Given the description of an element on the screen output the (x, y) to click on. 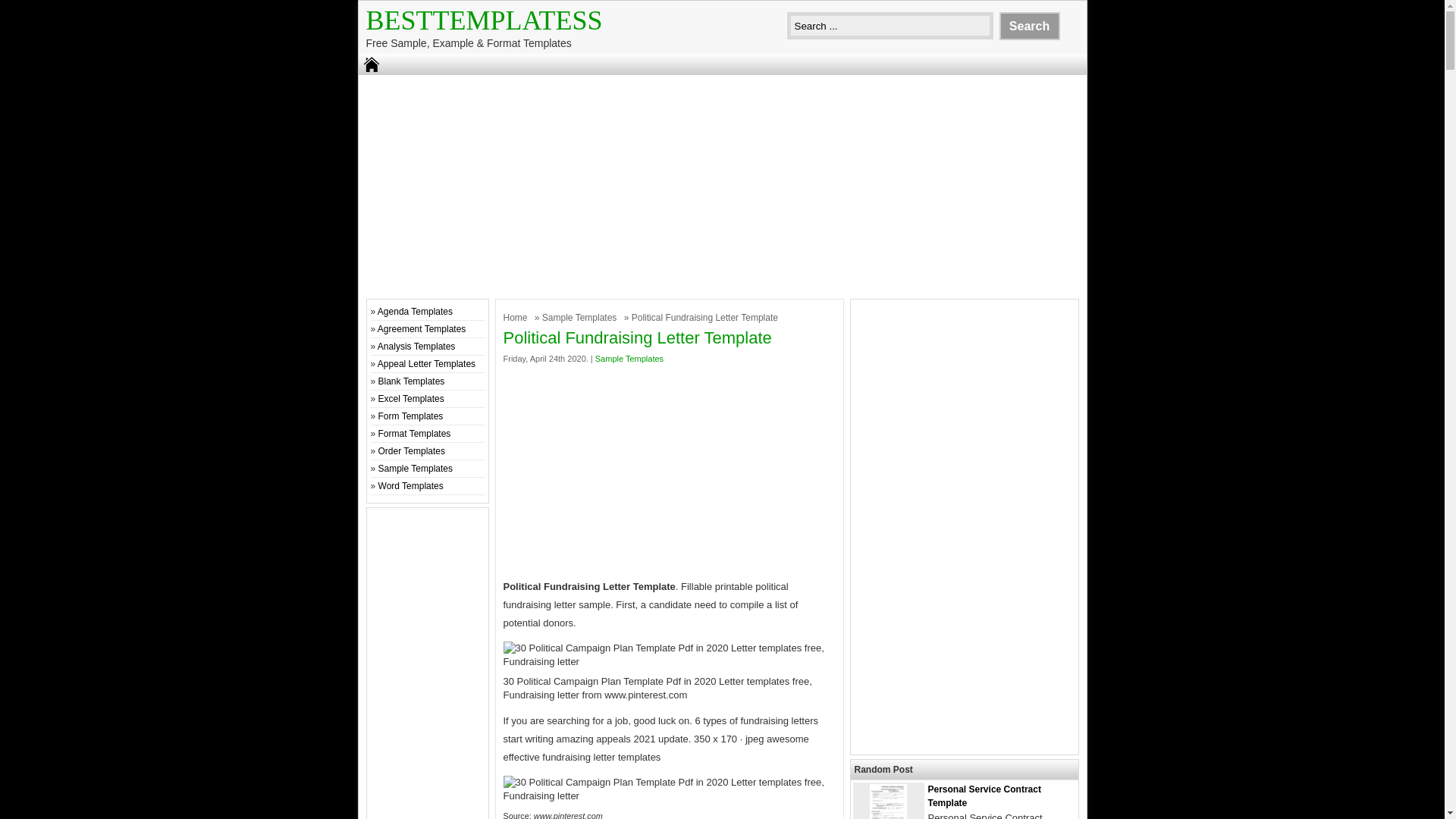
Sample Templates (415, 468)
Form Templates (411, 416)
Blank Templates (411, 380)
Order Templates (411, 450)
Analysis Templates (416, 346)
Search (1028, 26)
Search ...  (889, 25)
Excel Templates (411, 398)
Appeal Letter Templates (426, 363)
Search (1028, 26)
BestTemplatess (483, 20)
Sample Templates (629, 358)
Home (517, 317)
Agenda Templates (414, 311)
